Given the description of an element on the screen output the (x, y) to click on. 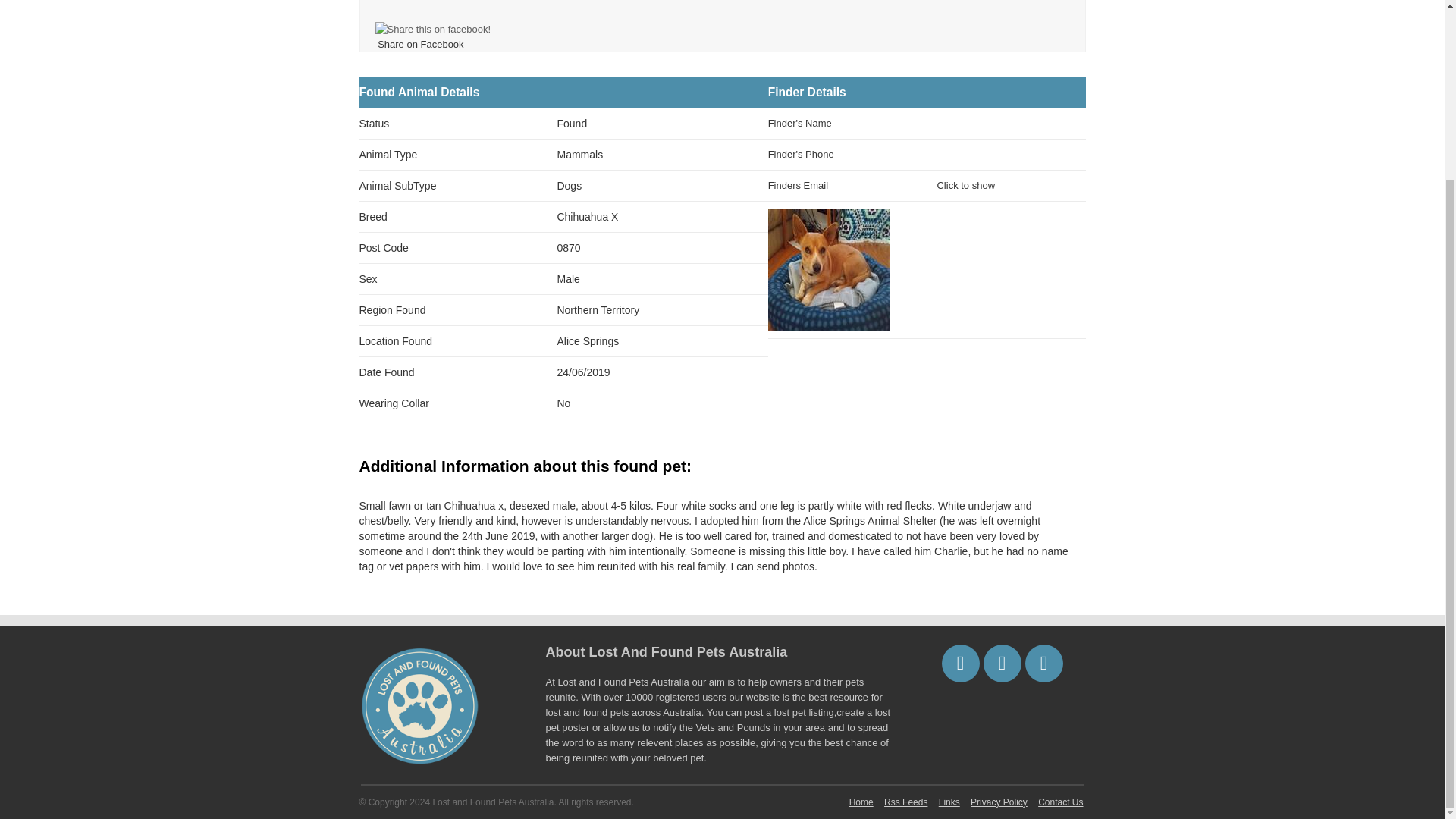
Home (861, 801)
Share on Facebook (420, 43)
Privacy Policy (998, 801)
Links (949, 801)
Contact Us (1059, 801)
Rss Feeds (906, 801)
